Given the description of an element on the screen output the (x, y) to click on. 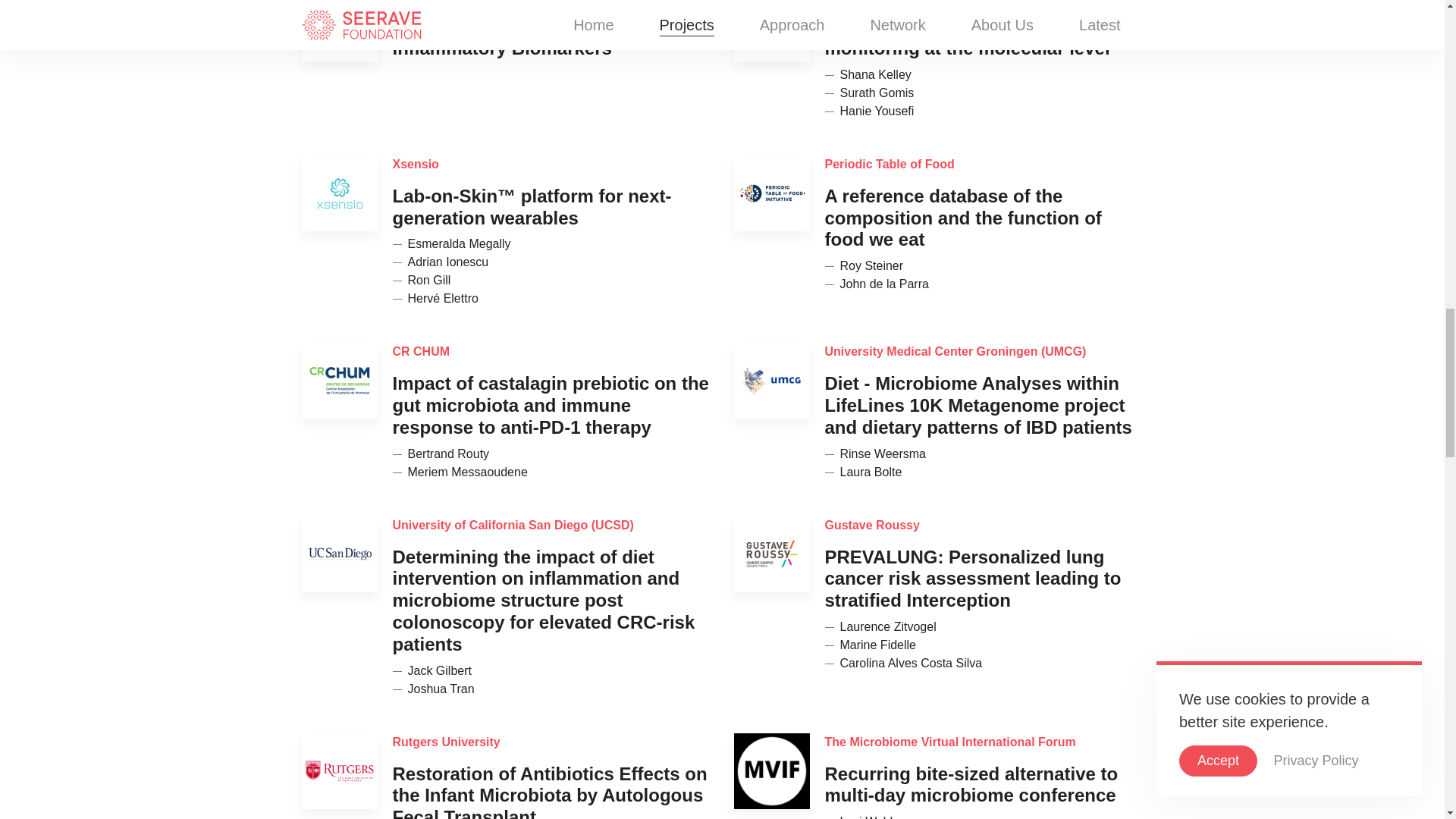
Continuous Monitoring of Inflammatory Biomarkers (503, 36)
